Given the description of an element on the screen output the (x, y) to click on. 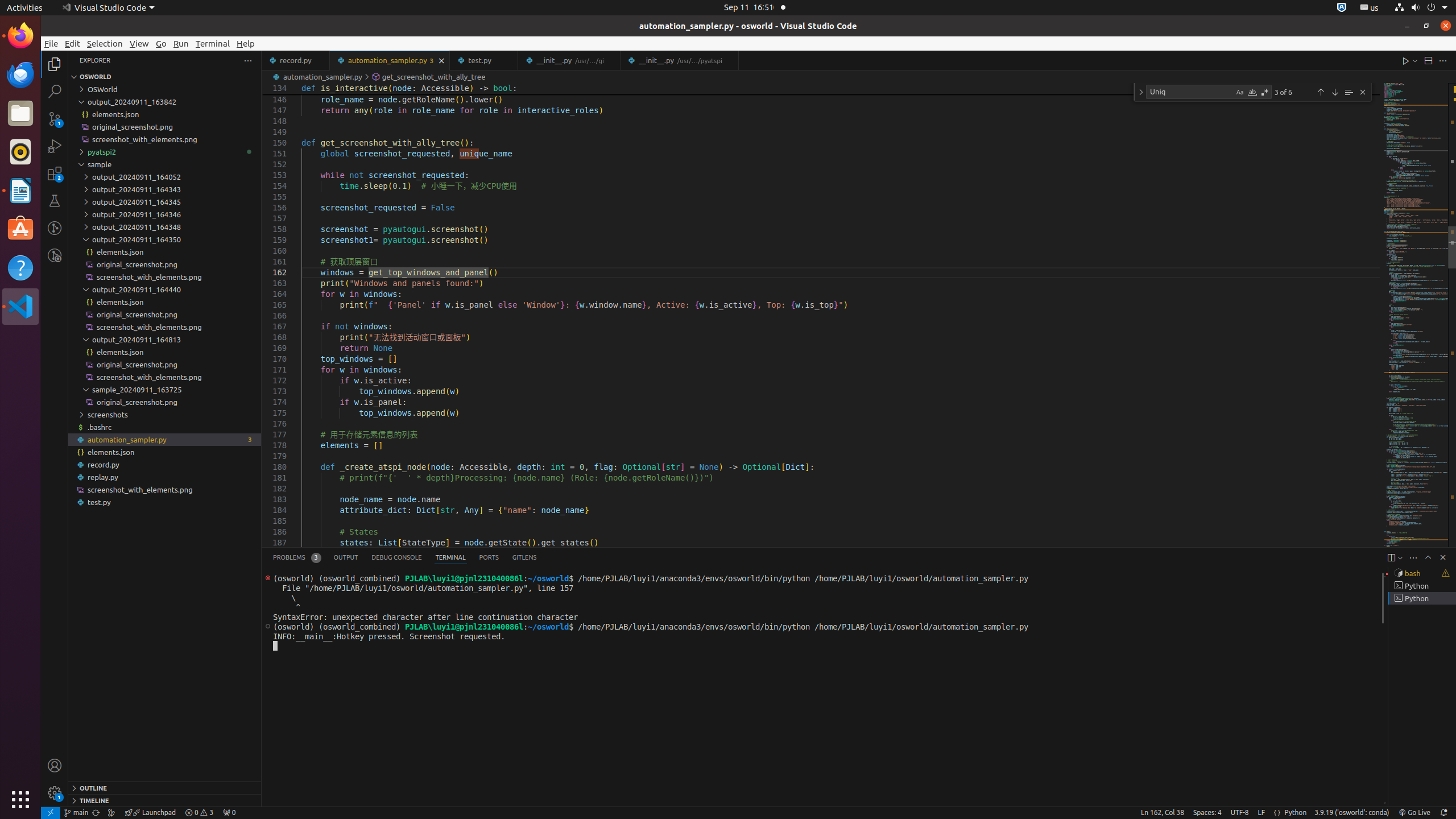
Manage - New Code update available. Element type: push-button (54, 792)
Ports Element type: page-tab (488, 557)
Close (Escape) Element type: push-button (1362, 91)
def is_interactive(node: Accessible) -> bool: Element type: list-item (840, 88)
output_20240911_164345 Element type: tree-item (164, 201)
